Given the description of an element on the screen output the (x, y) to click on. 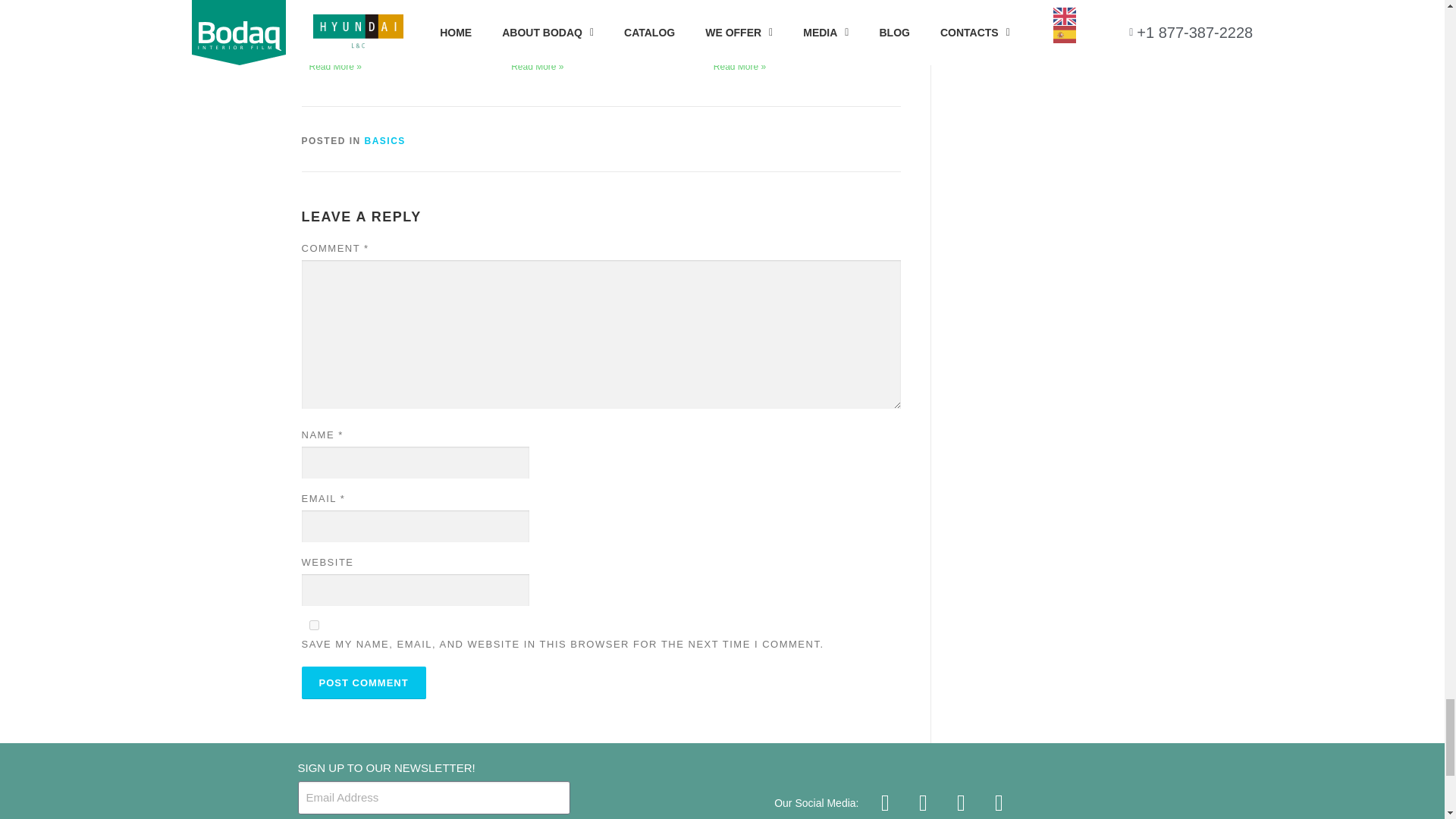
Post Comment (363, 682)
yes (313, 624)
